Given the description of an element on the screen output the (x, y) to click on. 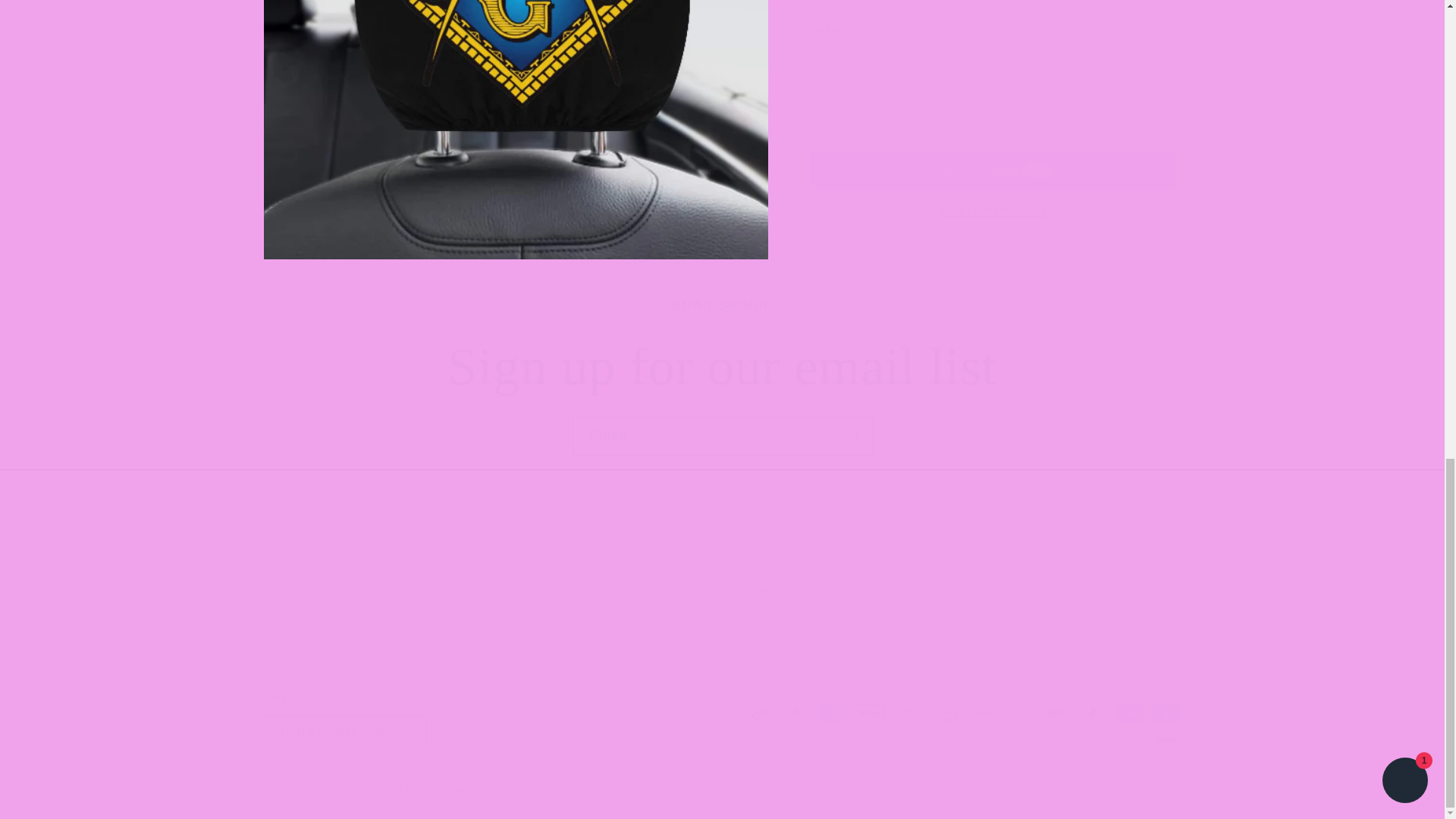
Increase quantity for MASON HEADREST (899, 50)
Sign up for our email list (722, 366)
More payment options (992, 197)
Decrease quantity for MASON HEADREST (827, 50)
Add to cart (992, 110)
Email (722, 436)
1 (863, 50)
EMAIL SIGNUP (722, 305)
